Given the description of an element on the screen output the (x, y) to click on. 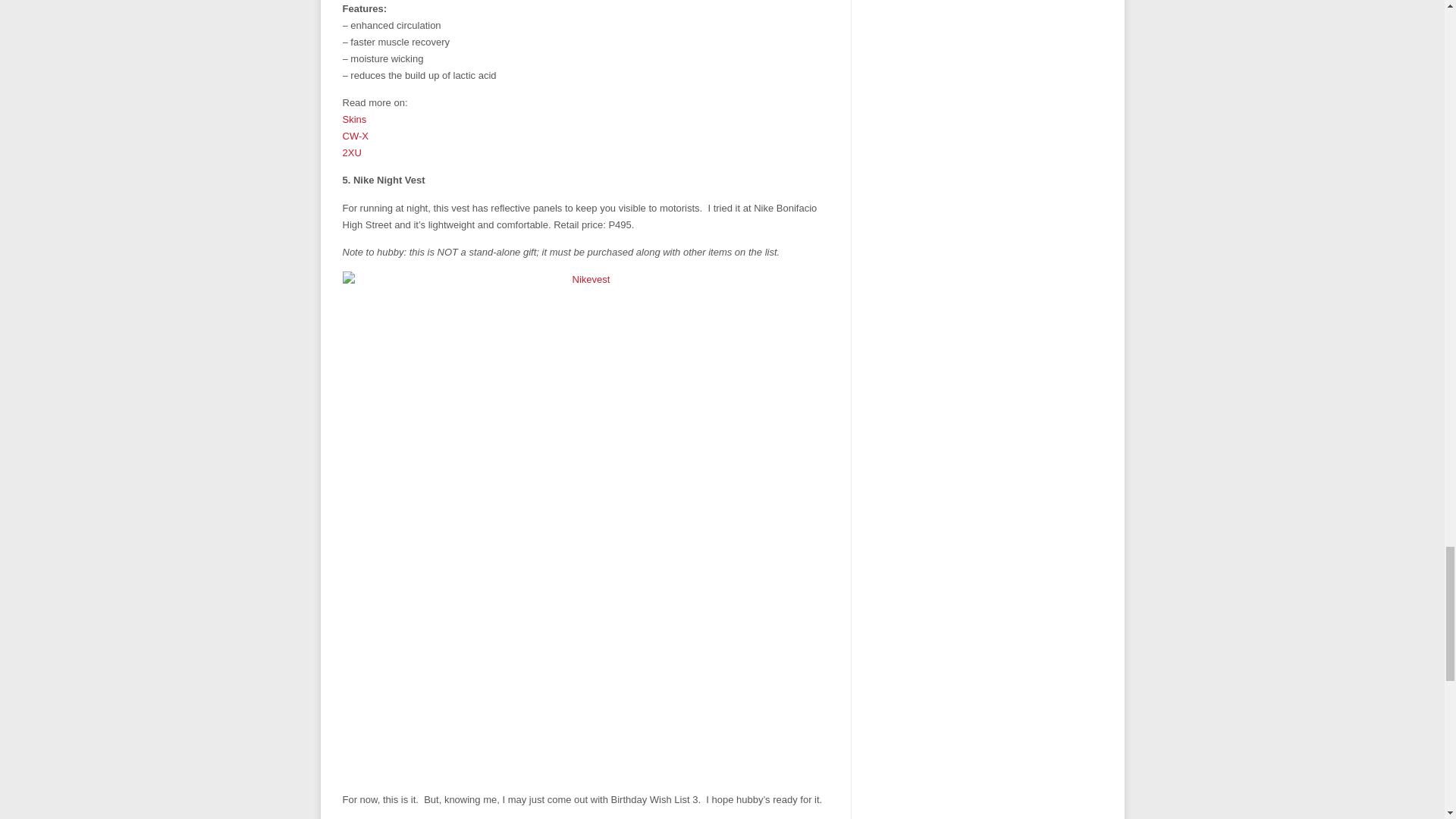
Skins (354, 119)
2XU (351, 152)
2XU (351, 152)
CW-x (355, 135)
CW-X (355, 135)
Skins (354, 119)
